Given the description of an element on the screen output the (x, y) to click on. 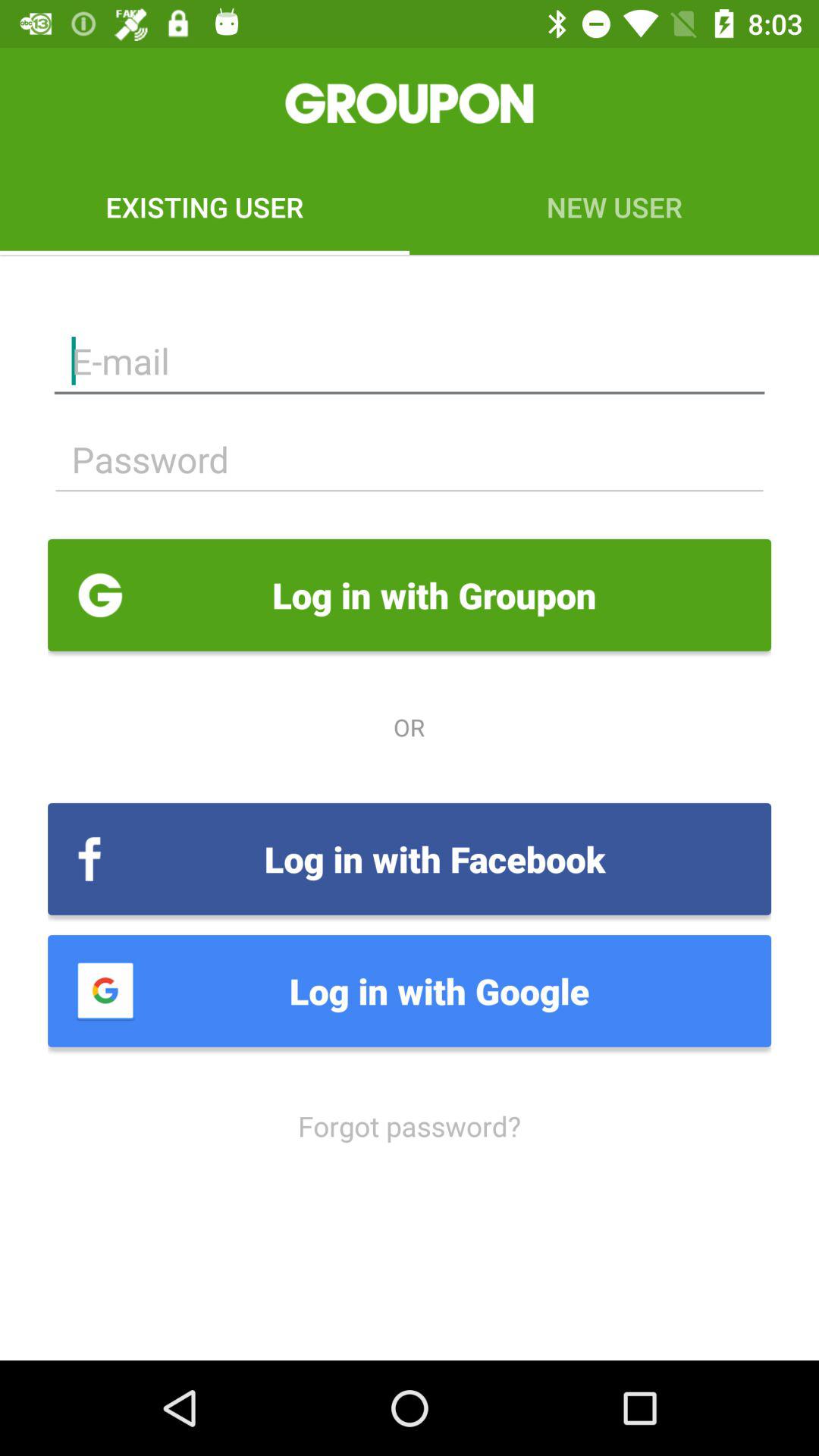
turn off app next to new user app (204, 206)
